Given the description of an element on the screen output the (x, y) to click on. 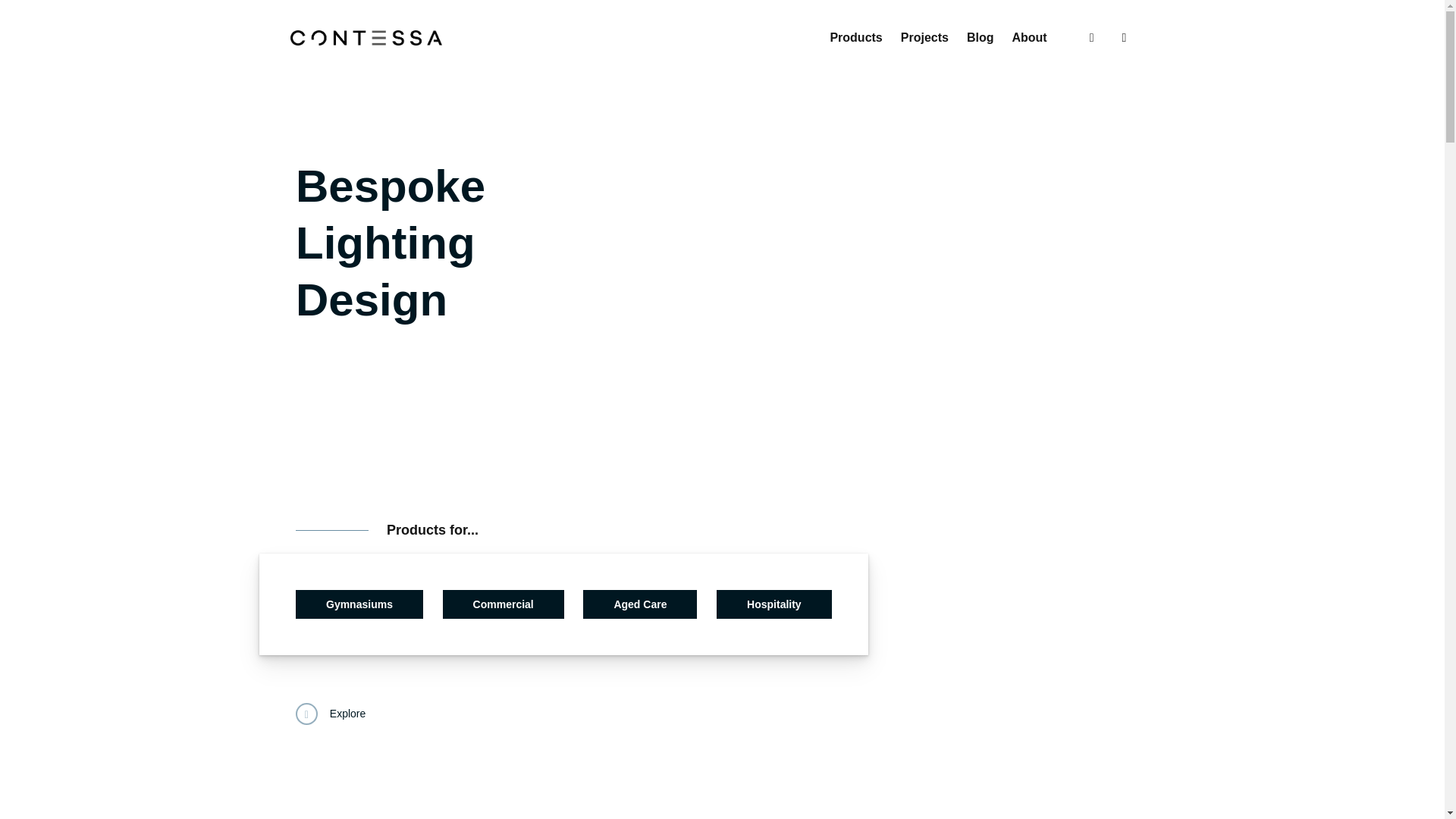
Aged Care Element type: text (639, 603)
Commercial Element type: text (503, 603)
Products Element type: text (855, 37)
Gymnasiums Element type: text (359, 603)
Hospitality Element type: text (773, 603)
Explore Element type: text (330, 713)
Blog Element type: text (980, 37)
SKIP TO CONTENT Element type: text (274, 3)
Projects Element type: text (924, 37)
About Element type: text (1028, 37)
